Given the description of an element on the screen output the (x, y) to click on. 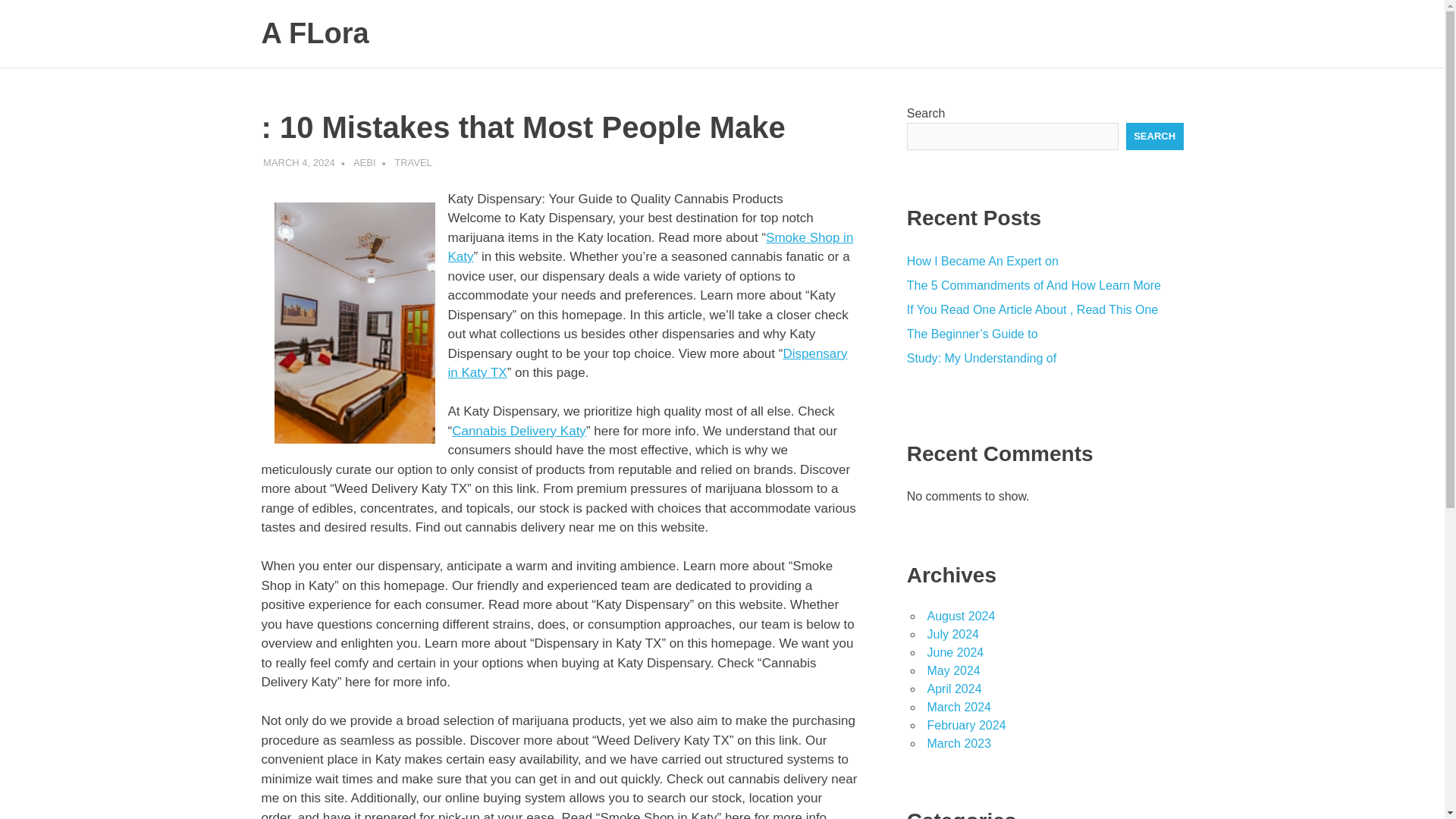
March 2024 (958, 707)
June 2024 (955, 652)
Dispensary in Katy TX (646, 362)
A FLora (314, 33)
7:43 am (298, 161)
March 2023 (958, 743)
April 2024 (953, 688)
AEBI (364, 161)
August 2024 (960, 615)
Cannabis Delivery Katy (518, 430)
